Given the description of an element on the screen output the (x, y) to click on. 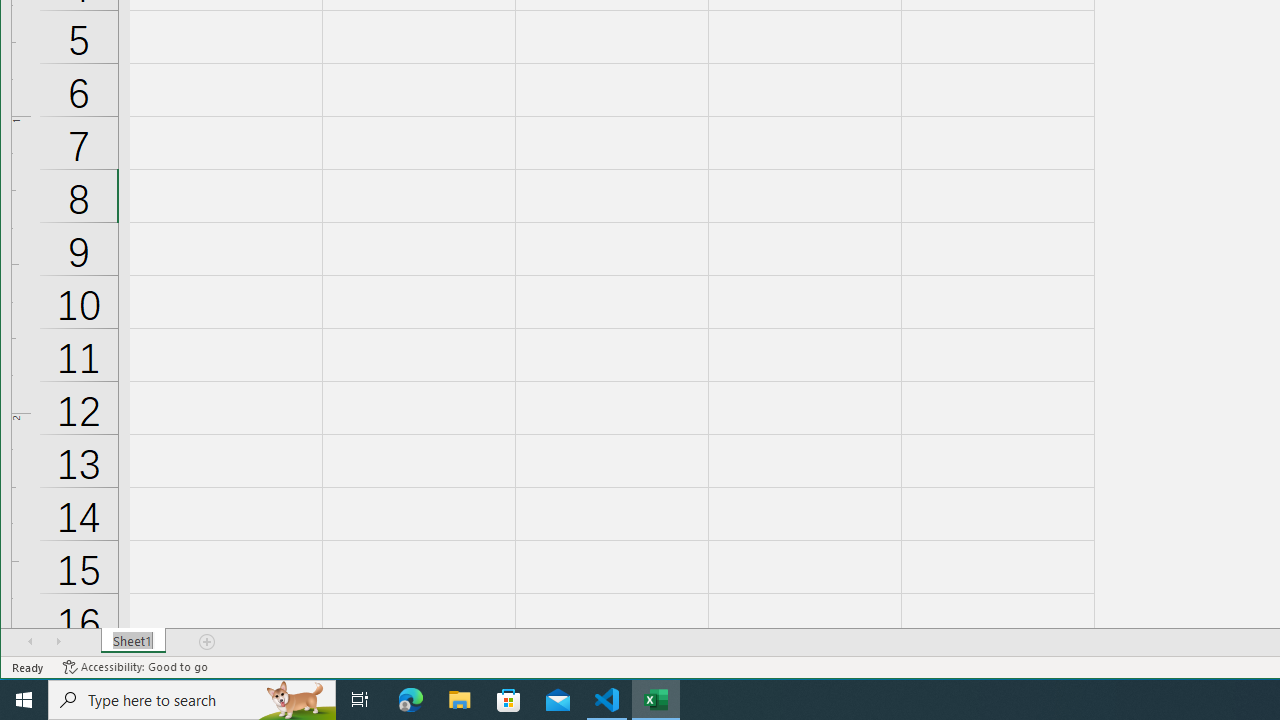
Accessibility Checker Accessibility: Good to go (135, 667)
Sheet Tab (133, 641)
Microsoft Edge (411, 699)
File Explorer (460, 699)
Start (24, 699)
Task View (359, 699)
Add Sheet (207, 641)
Visual Studio Code - 1 running window (607, 699)
Type here to search (191, 699)
Search highlights icon opens search home window (295, 699)
Scroll Right (58, 641)
Microsoft Store (509, 699)
Excel - 1 running window (656, 699)
Scroll Left (30, 641)
